Given the description of an element on the screen output the (x, y) to click on. 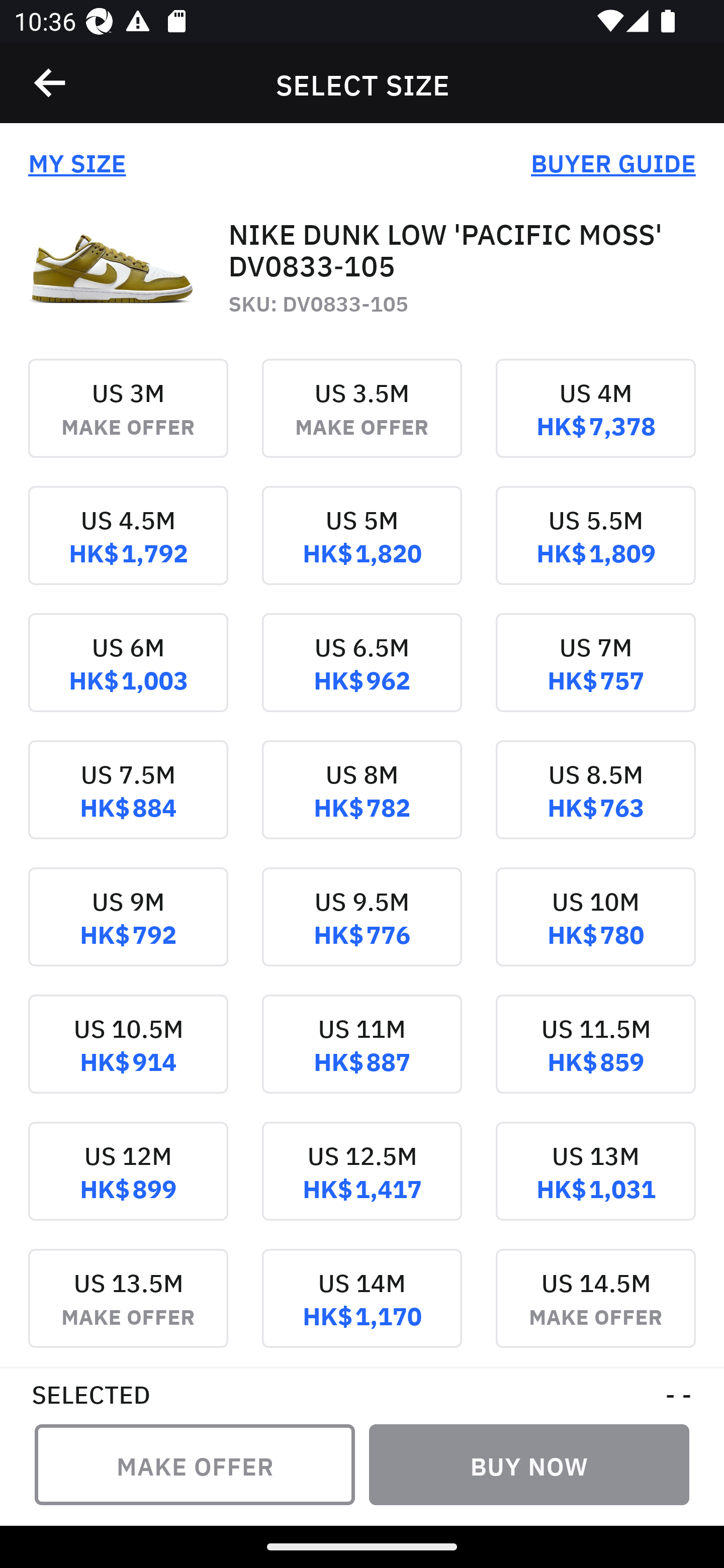
 (50, 83)
US 3M MAKE OFFER (128, 422)
US 3.5M MAKE OFFER (361, 422)
US 4M HK$ 7,378 (595, 422)
US 4.5M HK$ 1,792 (128, 549)
US 5M HK$ 1,820 (361, 549)
US 5.5M HK$ 1,809 (595, 549)
US 6M HK$ 1,003 (128, 676)
US 6.5M HK$ 962 (361, 676)
US 7M HK$ 757 (595, 676)
US 7.5M HK$ 884 (128, 803)
US 8M HK$ 782 (361, 803)
US 8.5M HK$ 763 (595, 803)
US 9M HK$ 792 (128, 930)
US 9.5M HK$ 776 (361, 930)
US 10M HK$ 780 (595, 930)
US 10.5M HK$ 914 (128, 1057)
US 11M HK$ 887 (361, 1057)
US 11.5M HK$ 859 (595, 1057)
US 12M HK$ 899 (128, 1184)
US 12.5M HK$ 1,417 (361, 1184)
US 13M HK$ 1,031 (595, 1184)
US 13.5M MAKE OFFER (128, 1306)
US 14M HK$ 1,170 (361, 1306)
US 14.5M MAKE OFFER (595, 1306)
MAKE OFFER (194, 1464)
BUY NOW (529, 1464)
